Given the description of an element on the screen output the (x, y) to click on. 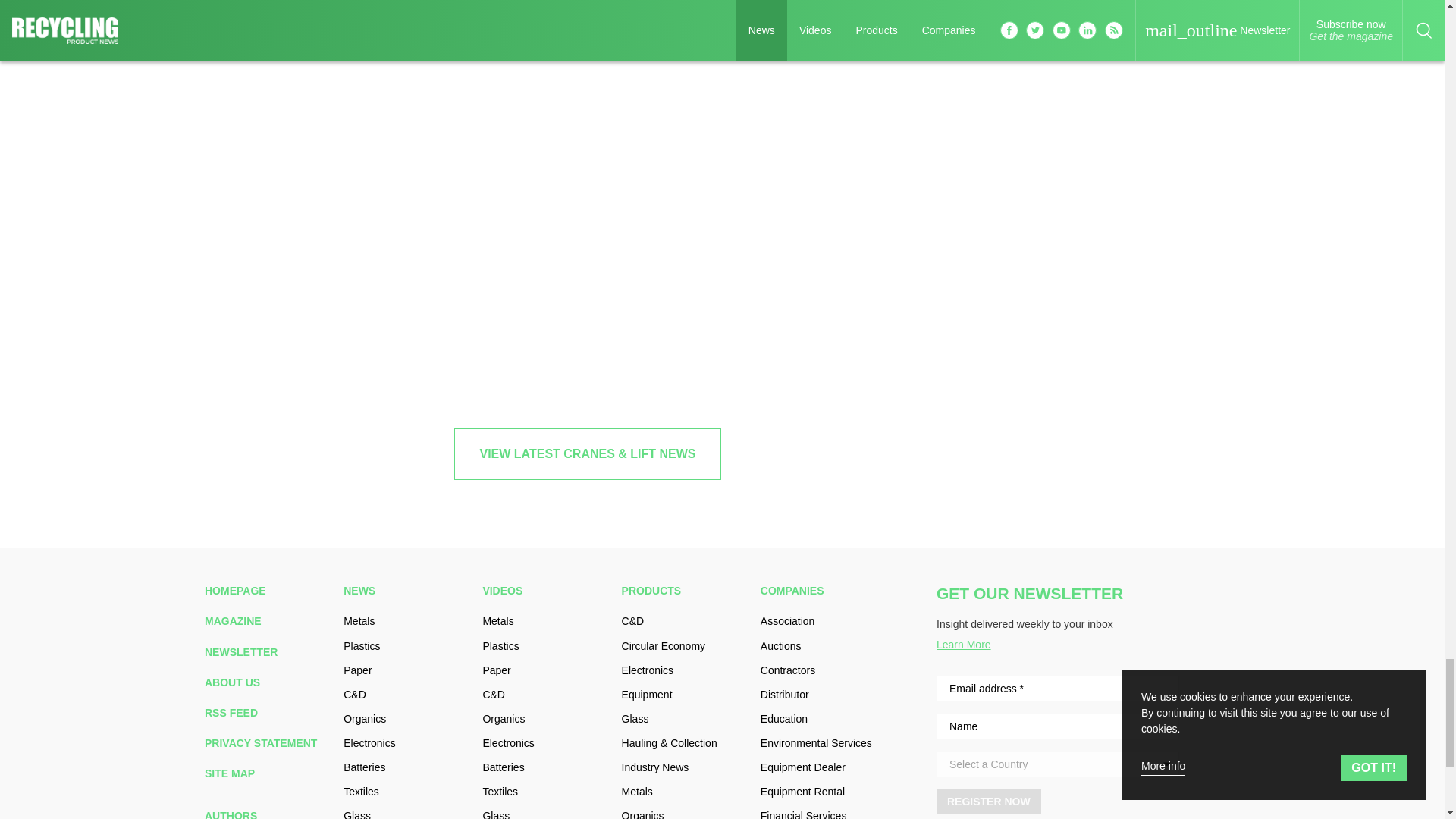
3rd party ad content (1125, 52)
HOMEPAGE (268, 590)
RSS FEED (268, 712)
MAGAZINE (268, 621)
ABOUT US (268, 682)
NEWSLETTER (268, 652)
PRIVACY STATEMENT (268, 743)
